Given the description of an element on the screen output the (x, y) to click on. 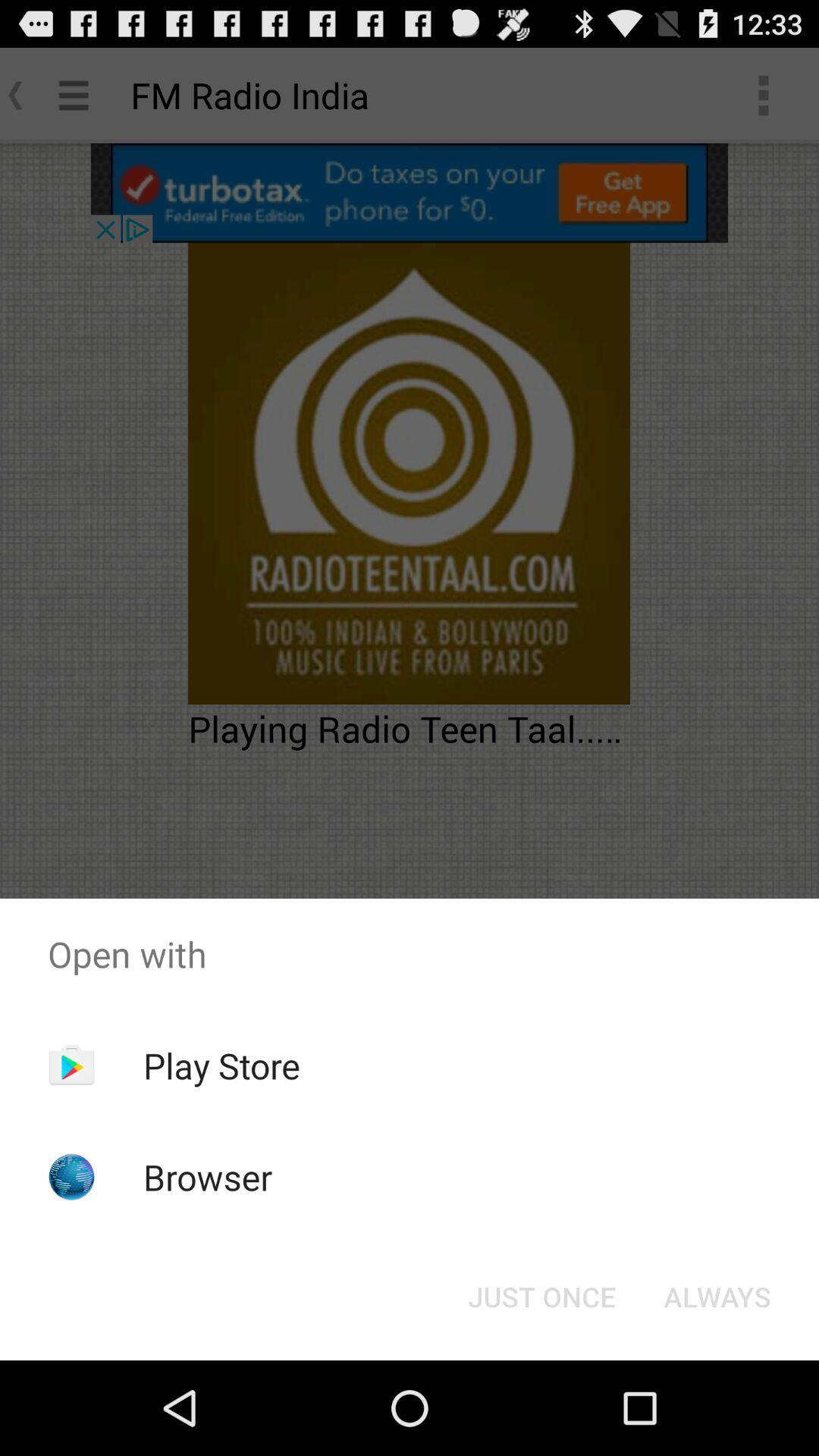
select just once icon (541, 1296)
